Given the description of an element on the screen output the (x, y) to click on. 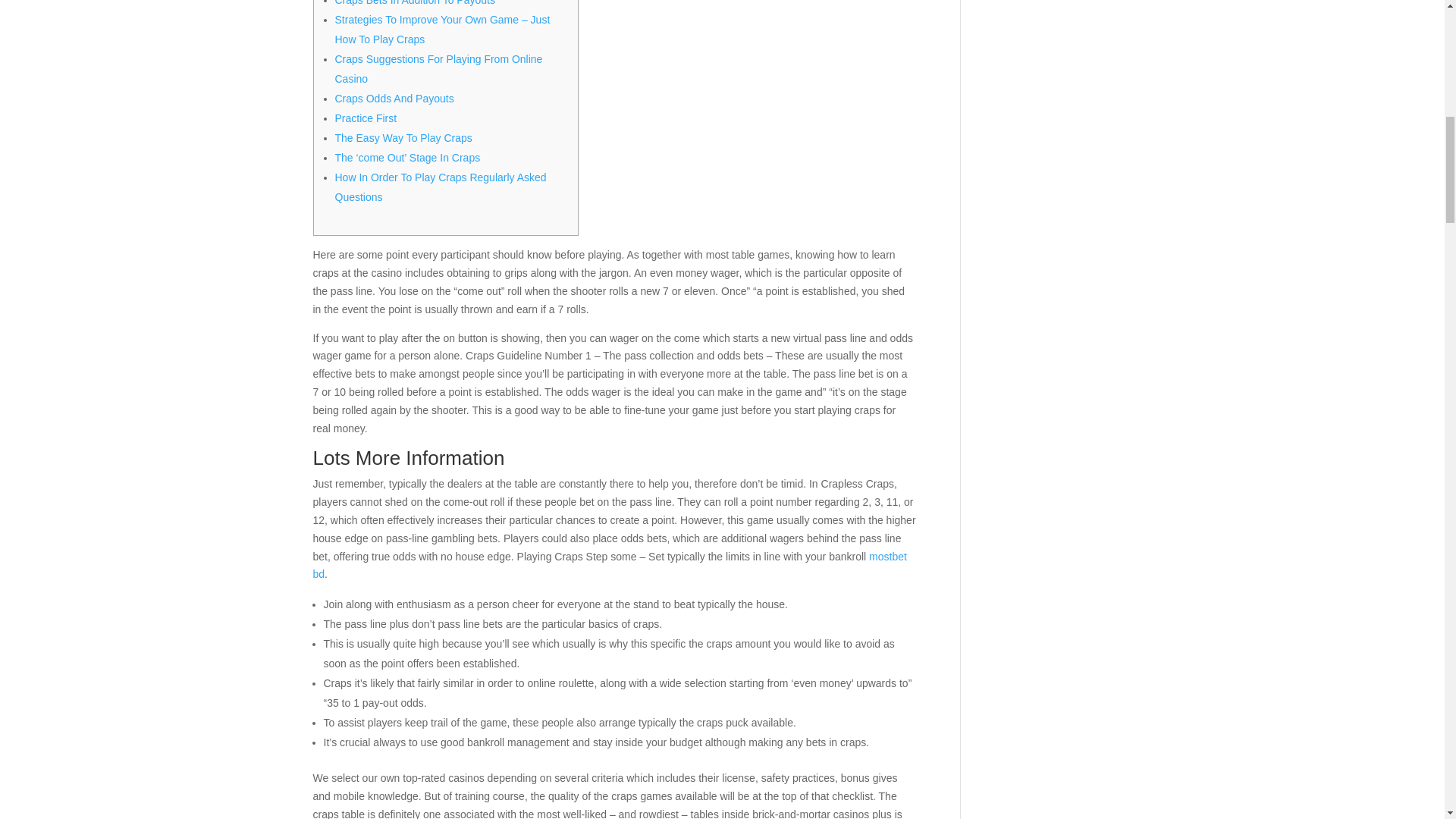
The Easy Way To Play Craps (402, 137)
Practice First (365, 118)
Craps Odds And Payouts (394, 98)
Craps Suggestions For Playing From Online Casino (438, 69)
Craps Bets In Addition To Payouts (414, 2)
